Given the description of an element on the screen output the (x, y) to click on. 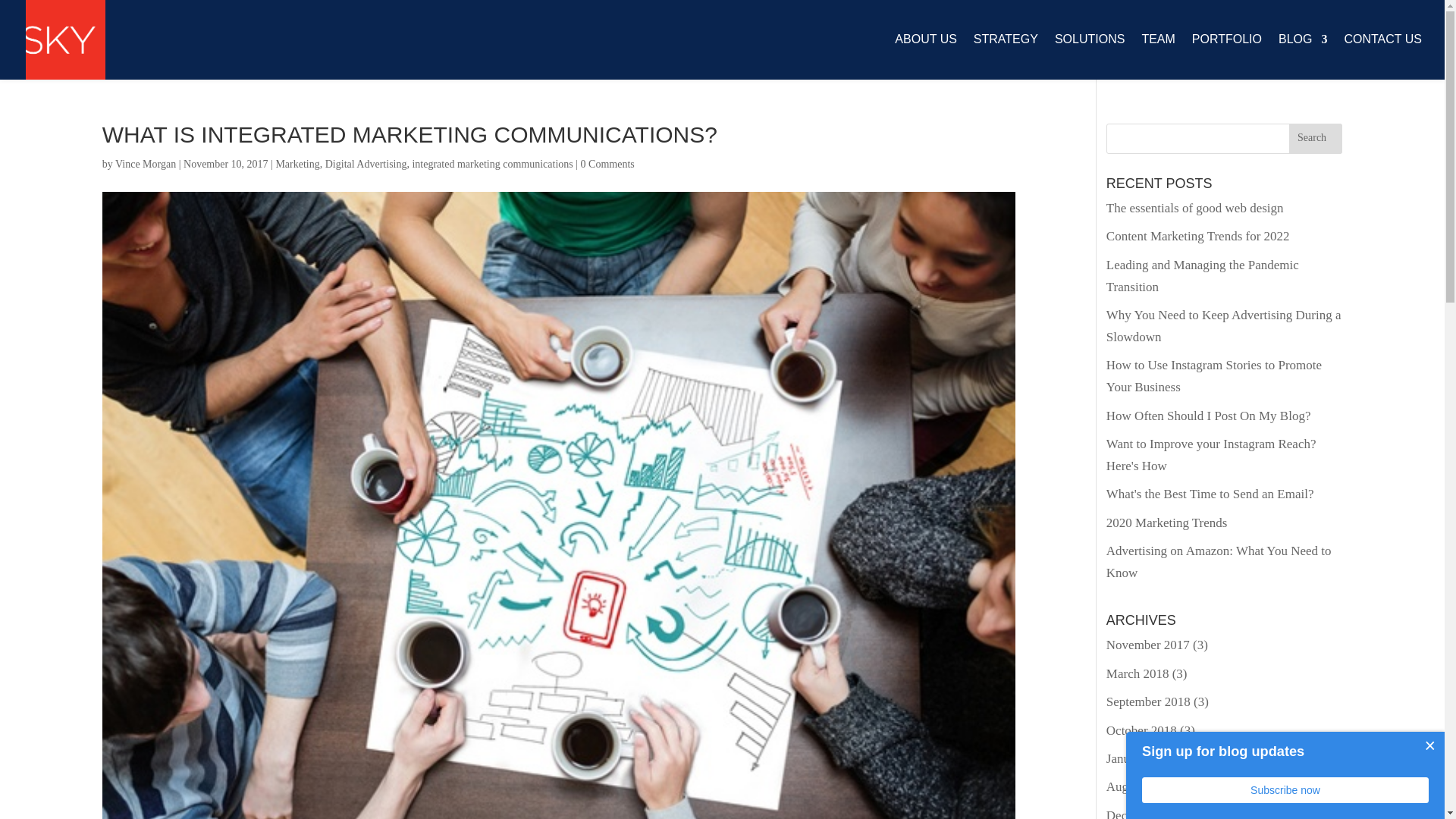
How Often Should I Post On My Blog? (1208, 415)
Content Marketing Trends for 2022 (1198, 236)
Advertising on Amazon: What You Need to Know (1219, 561)
Why You Need to Keep Advertising During a Slowdown (1223, 325)
SOLUTIONS (1089, 56)
What's the Best Time to Send an Email? (1210, 493)
CONTACT US (1382, 56)
Want to Improve your Instagram Reach? Here's How (1211, 454)
Digital Advertising (365, 163)
Marketing (296, 163)
The essentials of good web design (1195, 207)
Search (1315, 138)
Sky Advertising (65, 39)
integrated marketing communications (492, 163)
2020 Marketing Trends (1166, 522)
